Given the description of an element on the screen output the (x, y) to click on. 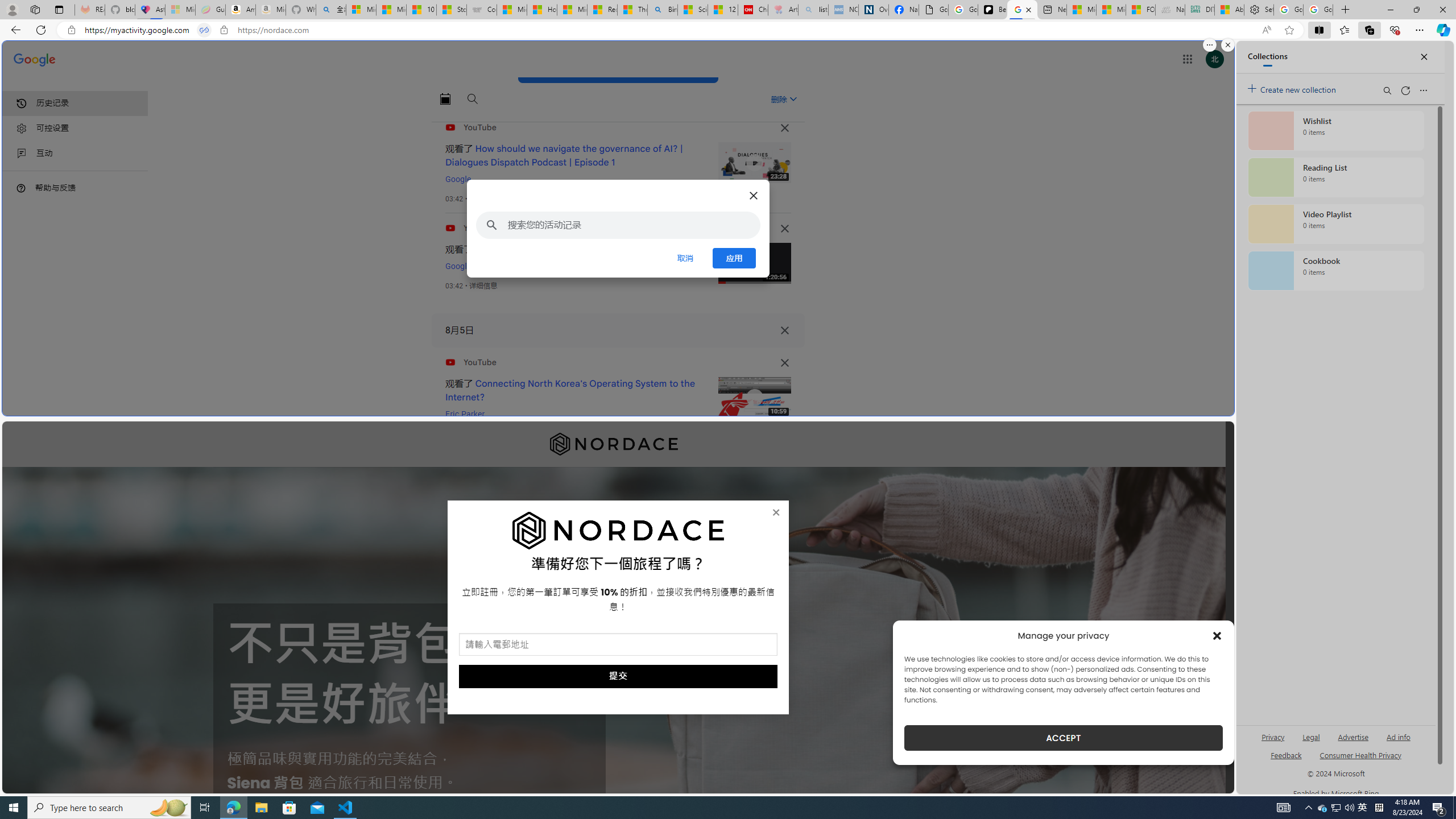
How I Got Rid of Microsoft Edge's Unnecessary Features (542, 9)
